Given the description of an element on the screen output the (x, y) to click on. 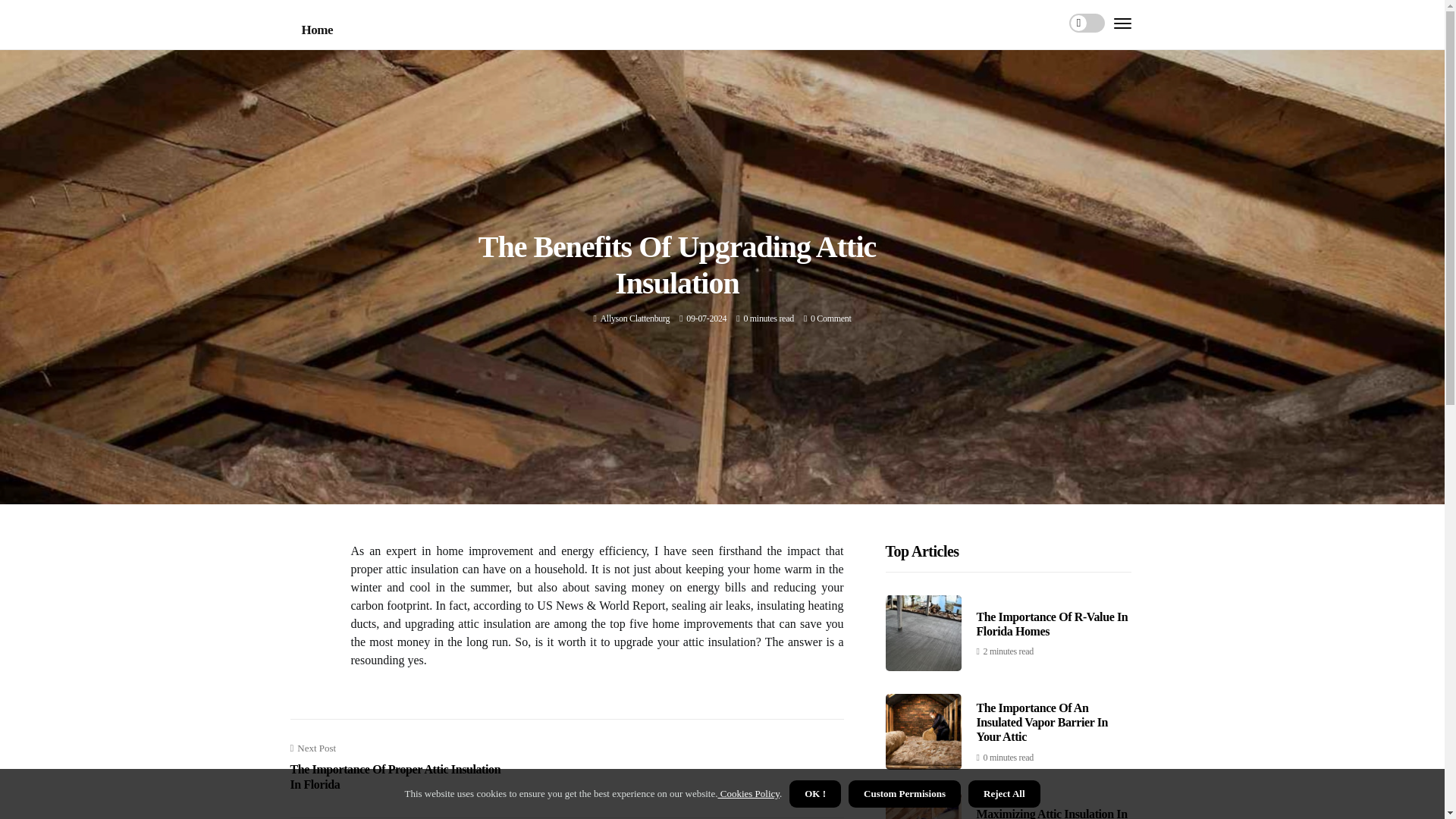
Allyson Clattenburg (634, 317)
The Importance Of R-Value In Florida Homes (1052, 624)
Posts by Allyson Clattenburg (634, 317)
Home (317, 30)
0 Comment (830, 317)
The Importance Of An Insulated Vapor Barrier In Your Attic (1042, 721)
Maximizing Attic Insulation In Florida (1051, 813)
